Given the description of an element on the screen output the (x, y) to click on. 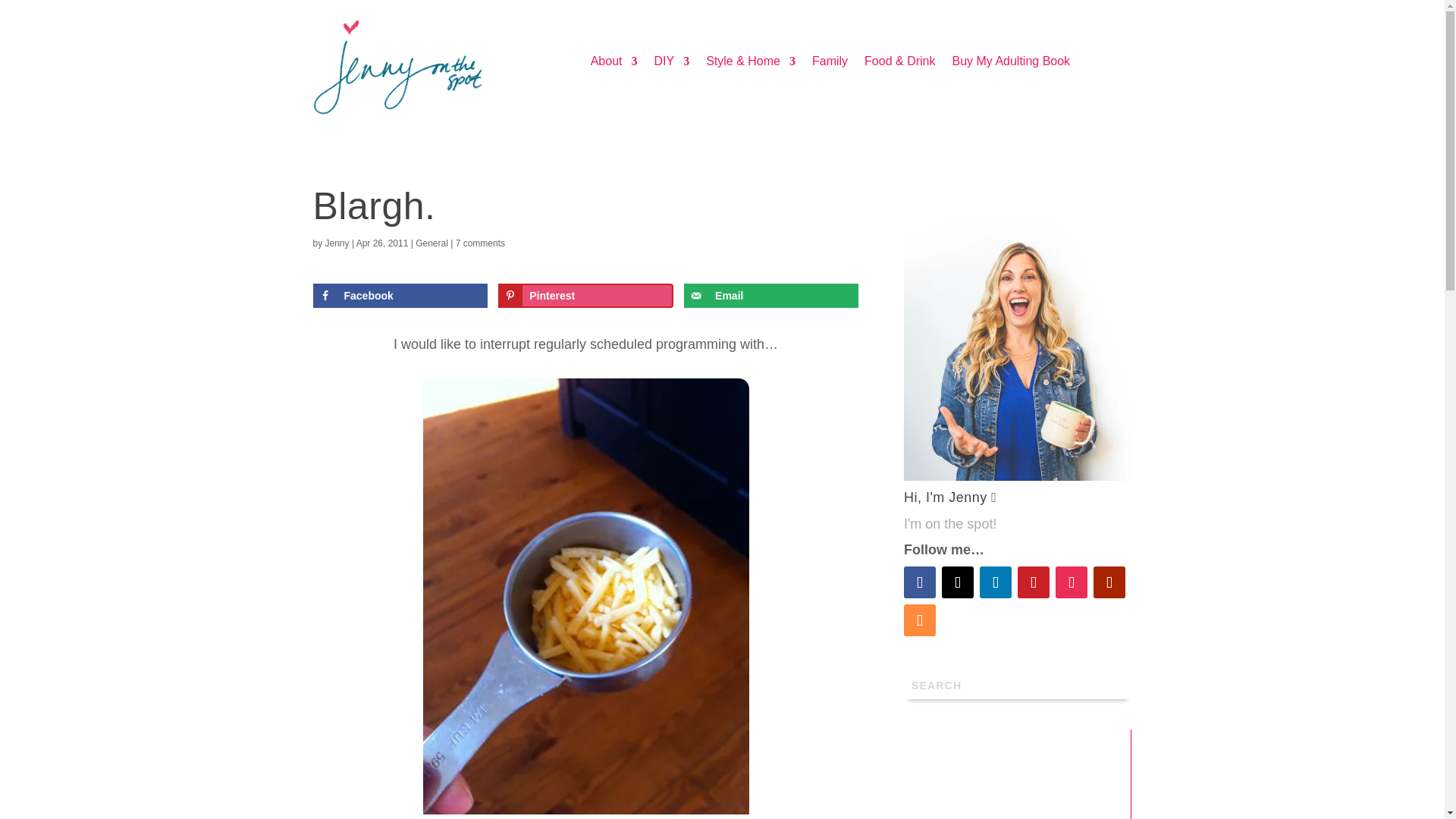
About (614, 64)
Facebook (399, 295)
7 comments (480, 243)
Jenny (336, 243)
Follow on Facebook (920, 582)
Follow on X (958, 582)
General (431, 243)
Follow on Instagram (1071, 582)
Follow on Pinterest (1033, 582)
Follow on LinkedIn (995, 582)
